Given the description of an element on the screen output the (x, y) to click on. 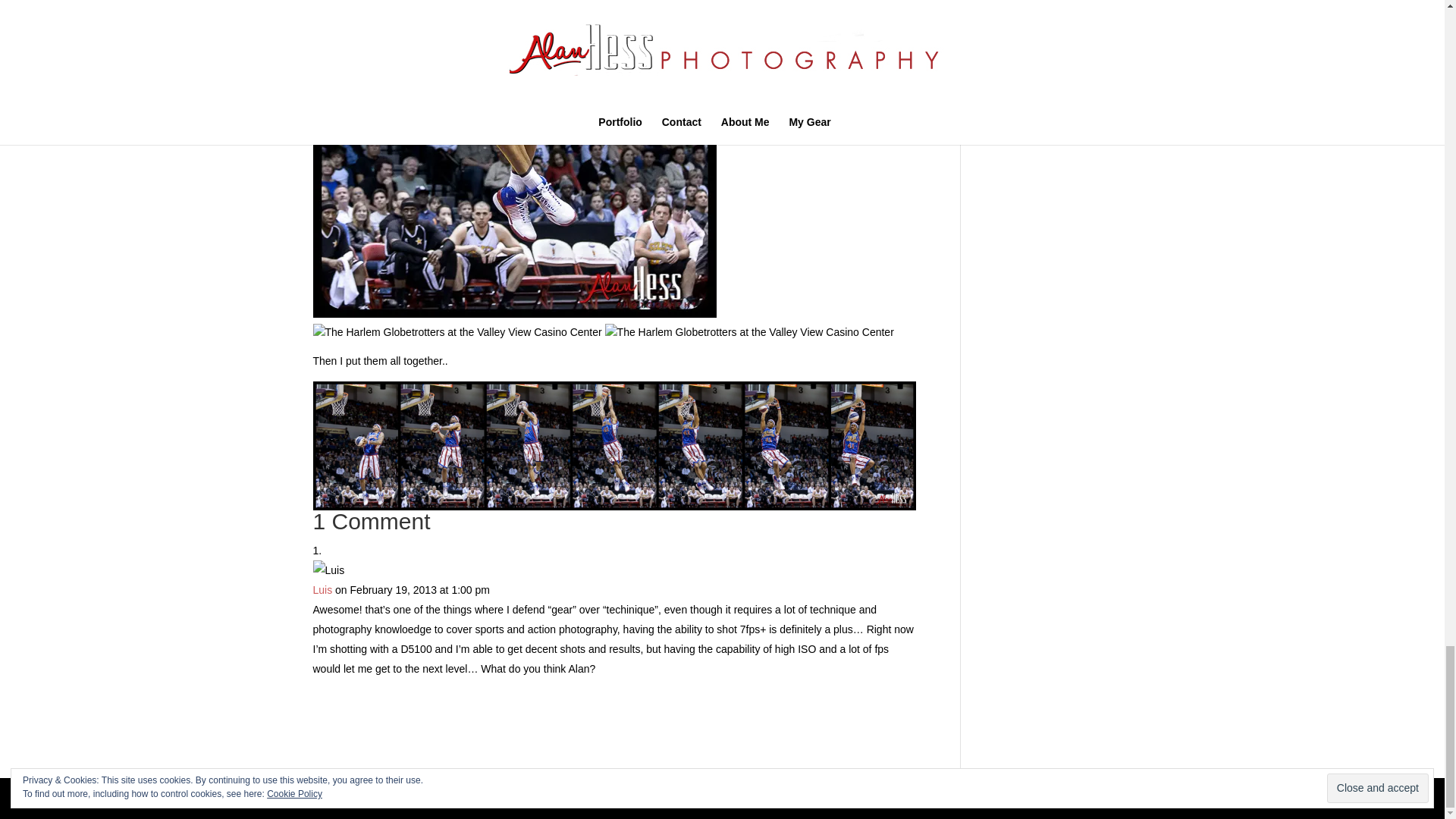
Luis (322, 589)
